Given the description of an element on the screen output the (x, y) to click on. 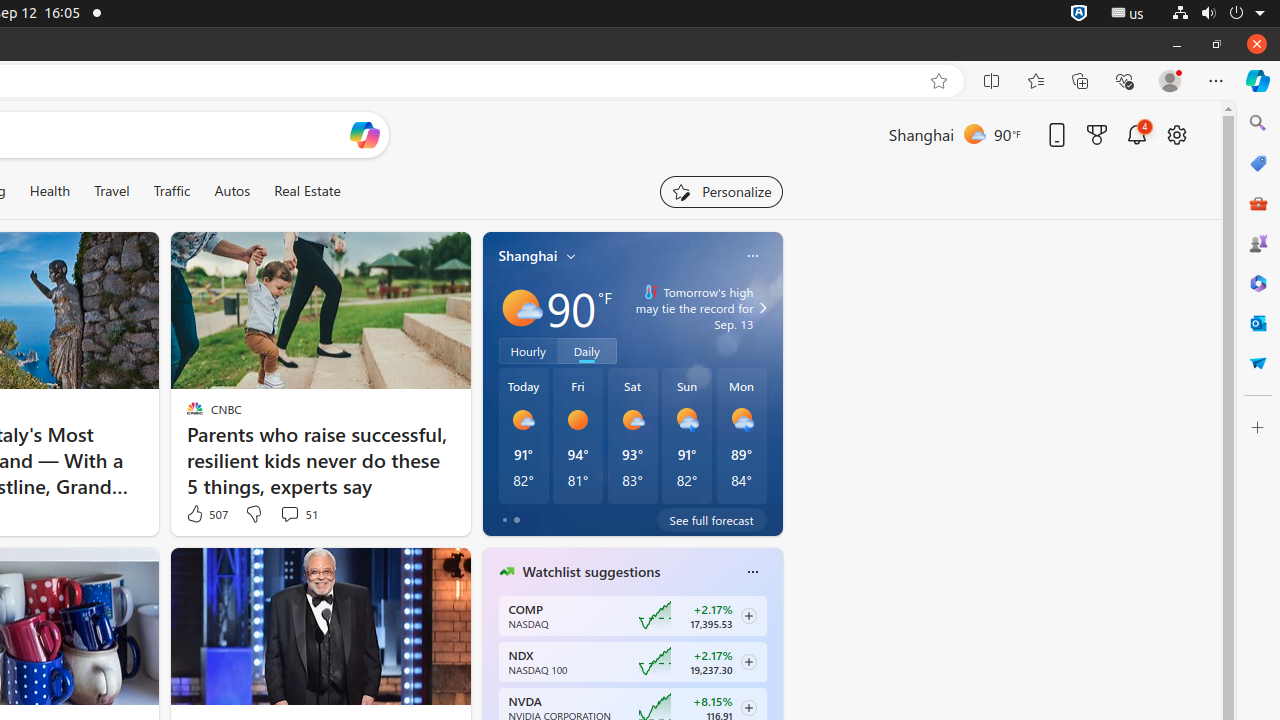
Weather forecast Sat High temperature 93° Low temperature 83° Element type: link (632, 435)
Open Copilot Element type: push-button (364, 135)
Outlook Element type: push-button (1258, 323)
Open settings Element type: push-button (1177, 134)
Mostly sunny Element type: link (520, 308)
